Given the description of an element on the screen output the (x, y) to click on. 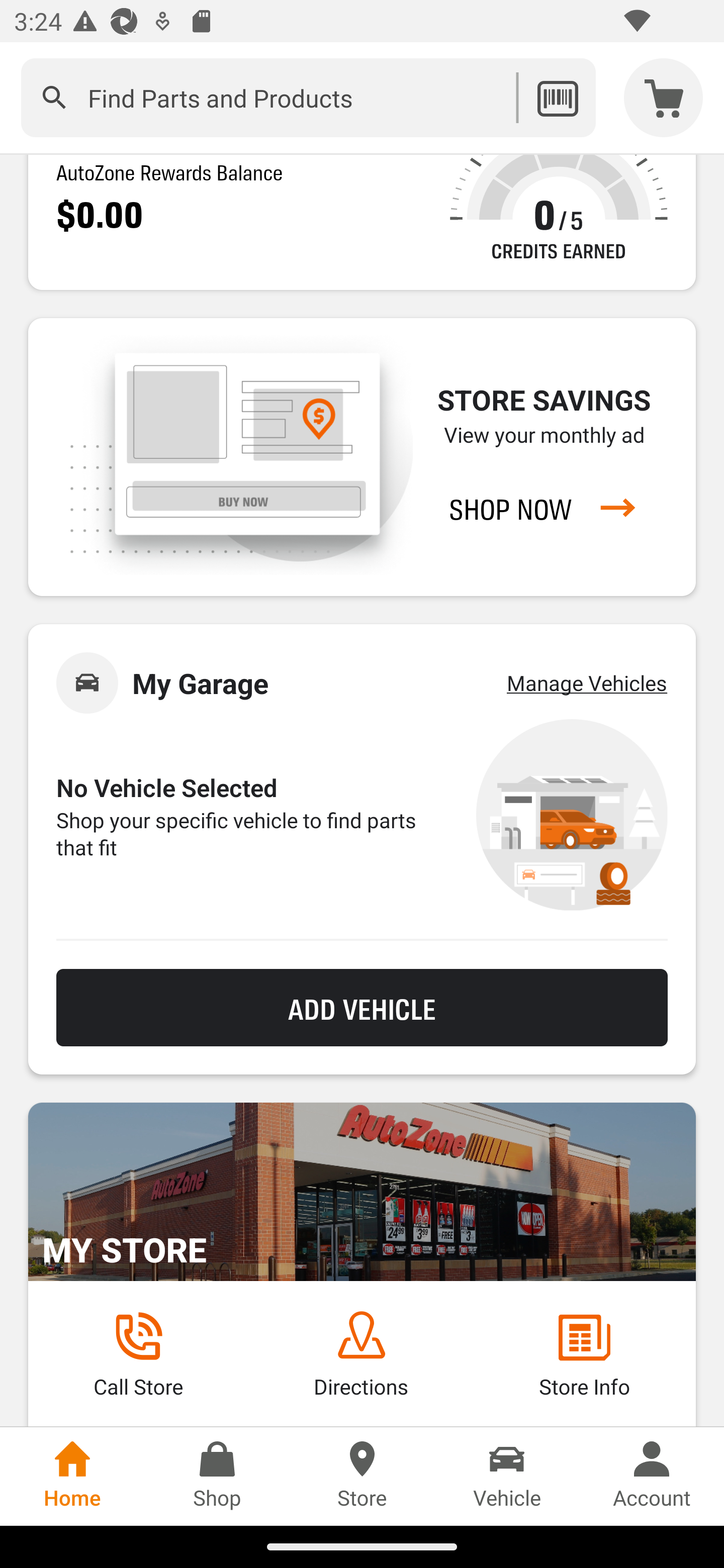
 scan-product-to-search  (557, 97)
 (54, 97)
Cart, no items  (663, 97)
Manage Vehicles (586, 683)
ADD VEHICLE (361, 1007)
Call Store  Call Store (138, 1354)
Directions  Directions (361, 1354)
Store Info  Store Info (584, 1354)
Home (72, 1475)
Shop (216, 1475)
Store (361, 1475)
Vehicle (506, 1475)
Account (651, 1475)
